Given the description of an element on the screen output the (x, y) to click on. 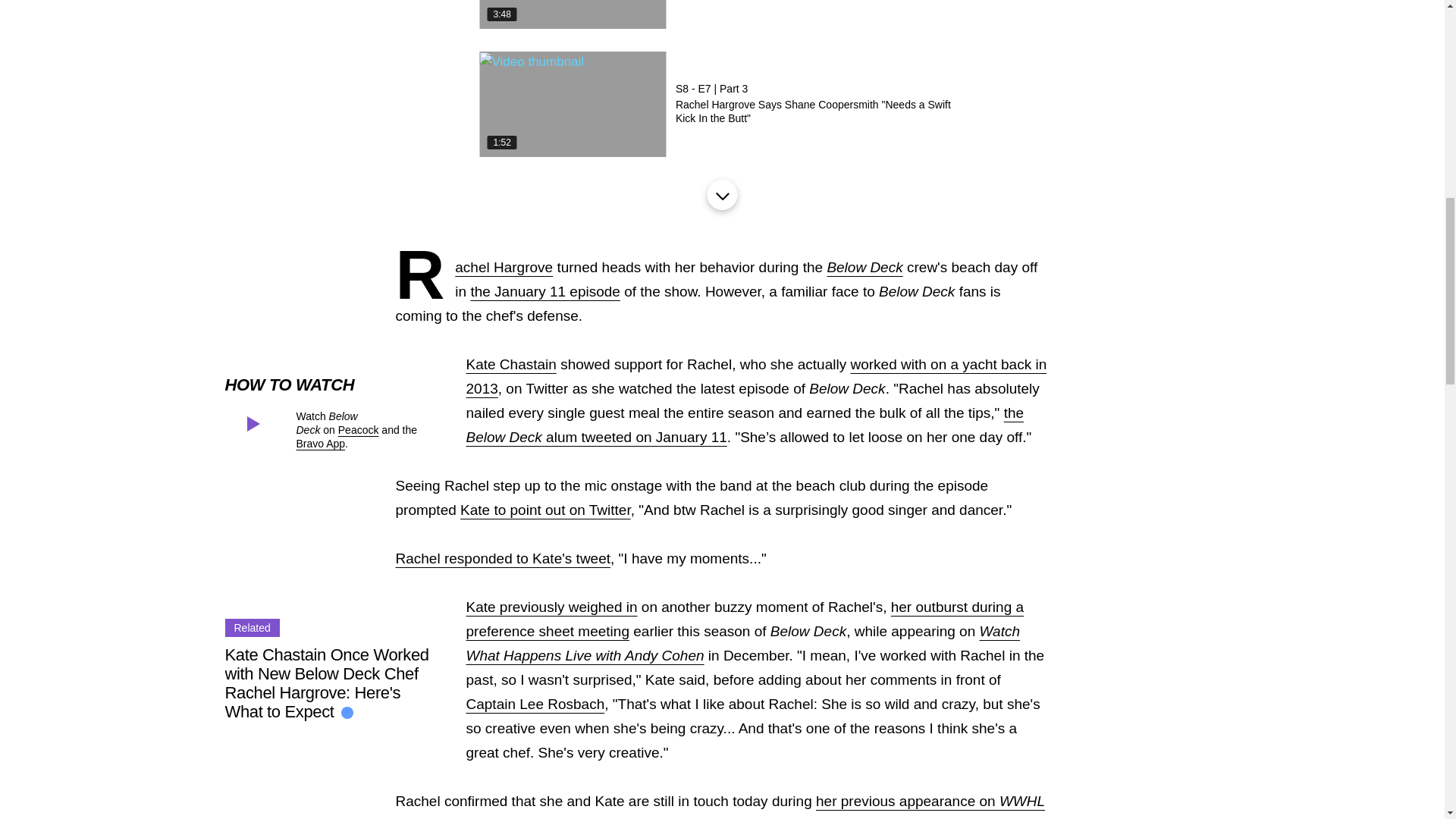
worked with on a yacht back in 2013 (755, 376)
Rachel Hargrove (503, 267)
Bravo App (320, 443)
Peacock (357, 429)
Rachel responded to Kate's tweet (503, 558)
the January 11 episode (545, 291)
Load More (721, 194)
Kate Chastain (510, 364)
Kate previously weighed in (551, 606)
Kate to point out on Twitter (545, 509)
the Below Deck alum tweeted on January 11 (744, 424)
Below Deck (864, 267)
